Given the description of an element on the screen output the (x, y) to click on. 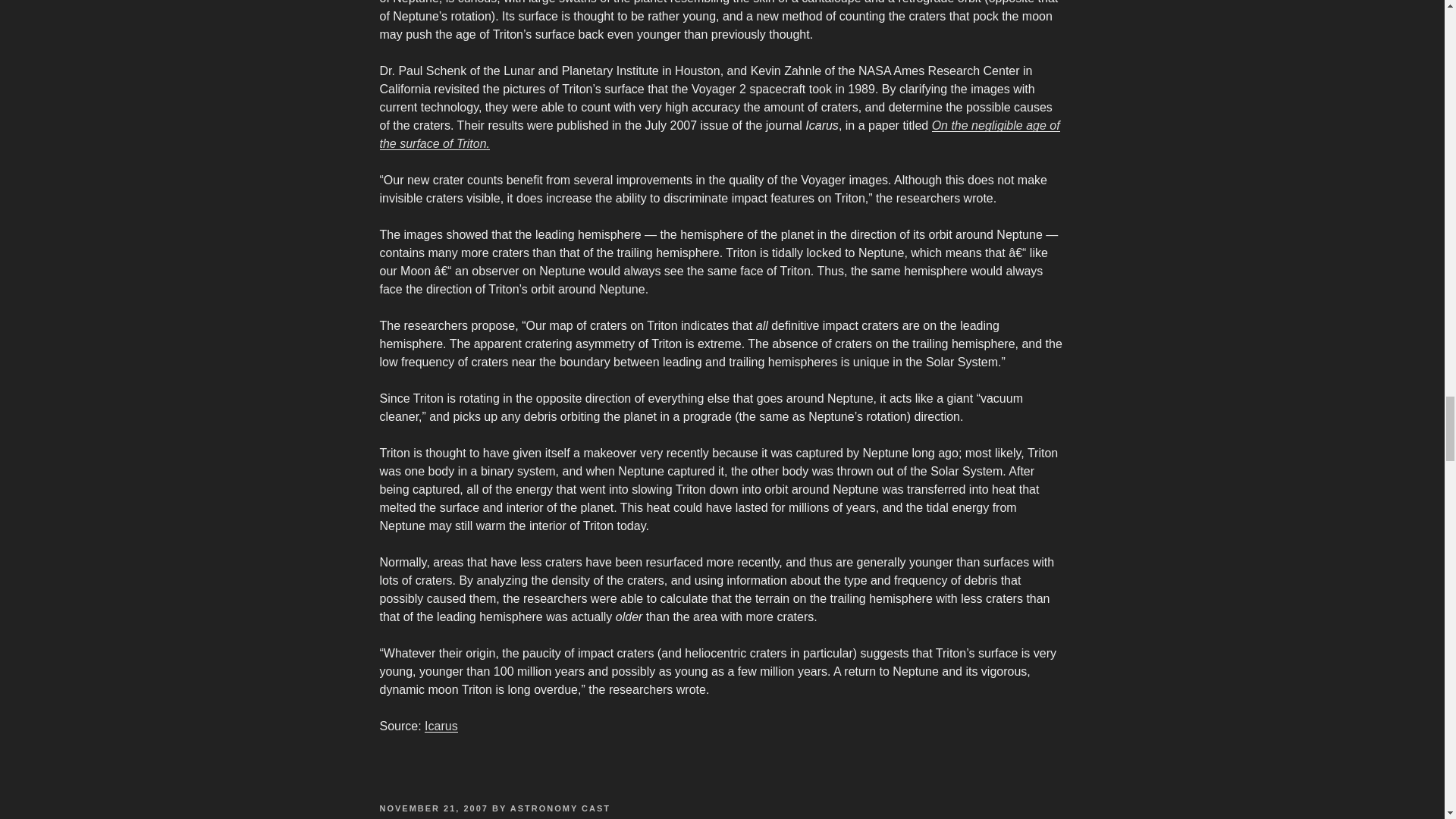
NOVEMBER 21, 2007 (432, 808)
ASTRONOMY CAST (560, 808)
Icarus (441, 725)
On the negligible age of the surface of Triton. (718, 133)
